Given the description of an element on the screen output the (x, y) to click on. 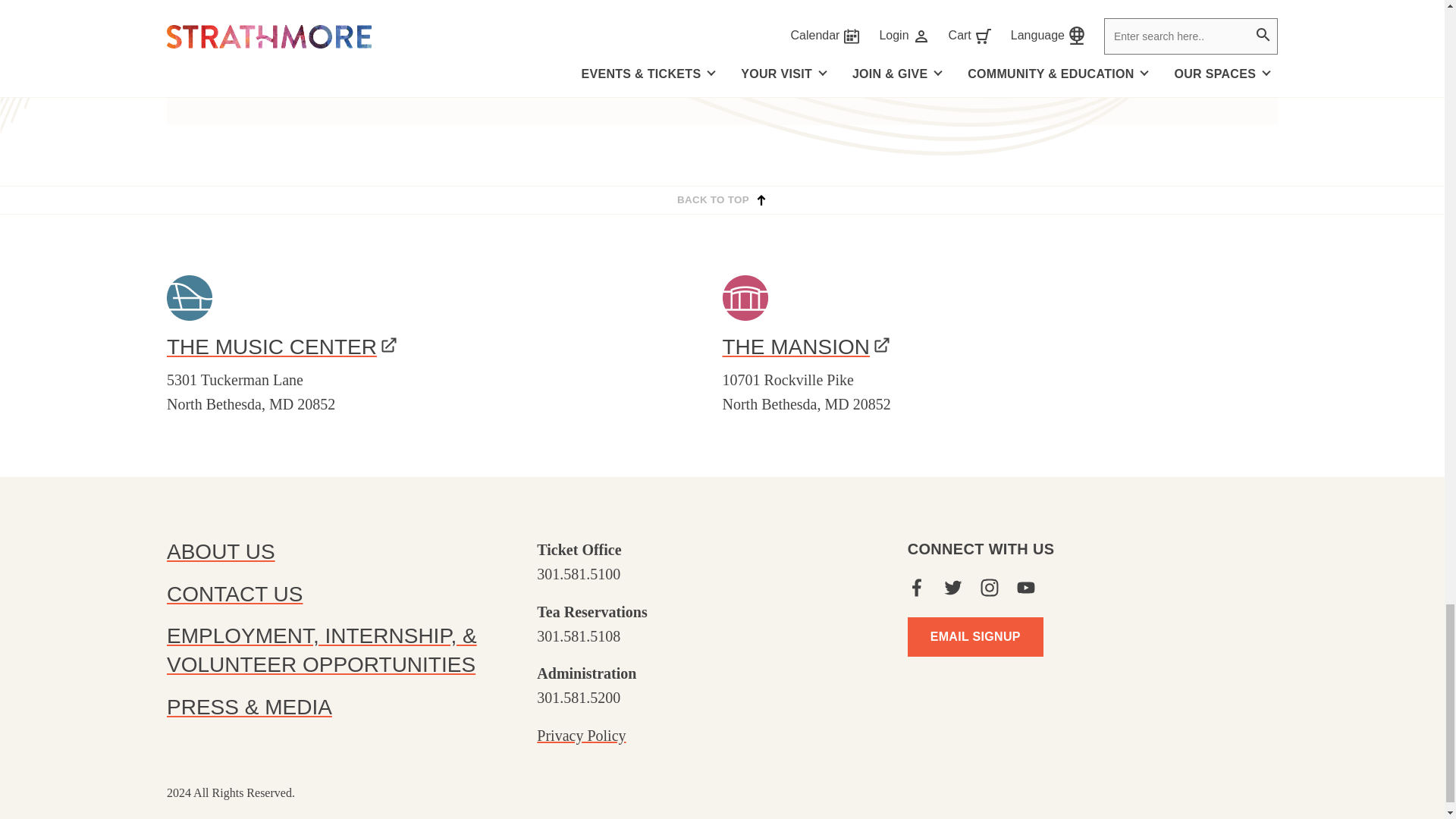
Privacy Policy (581, 735)
